Given the description of an element on the screen output the (x, y) to click on. 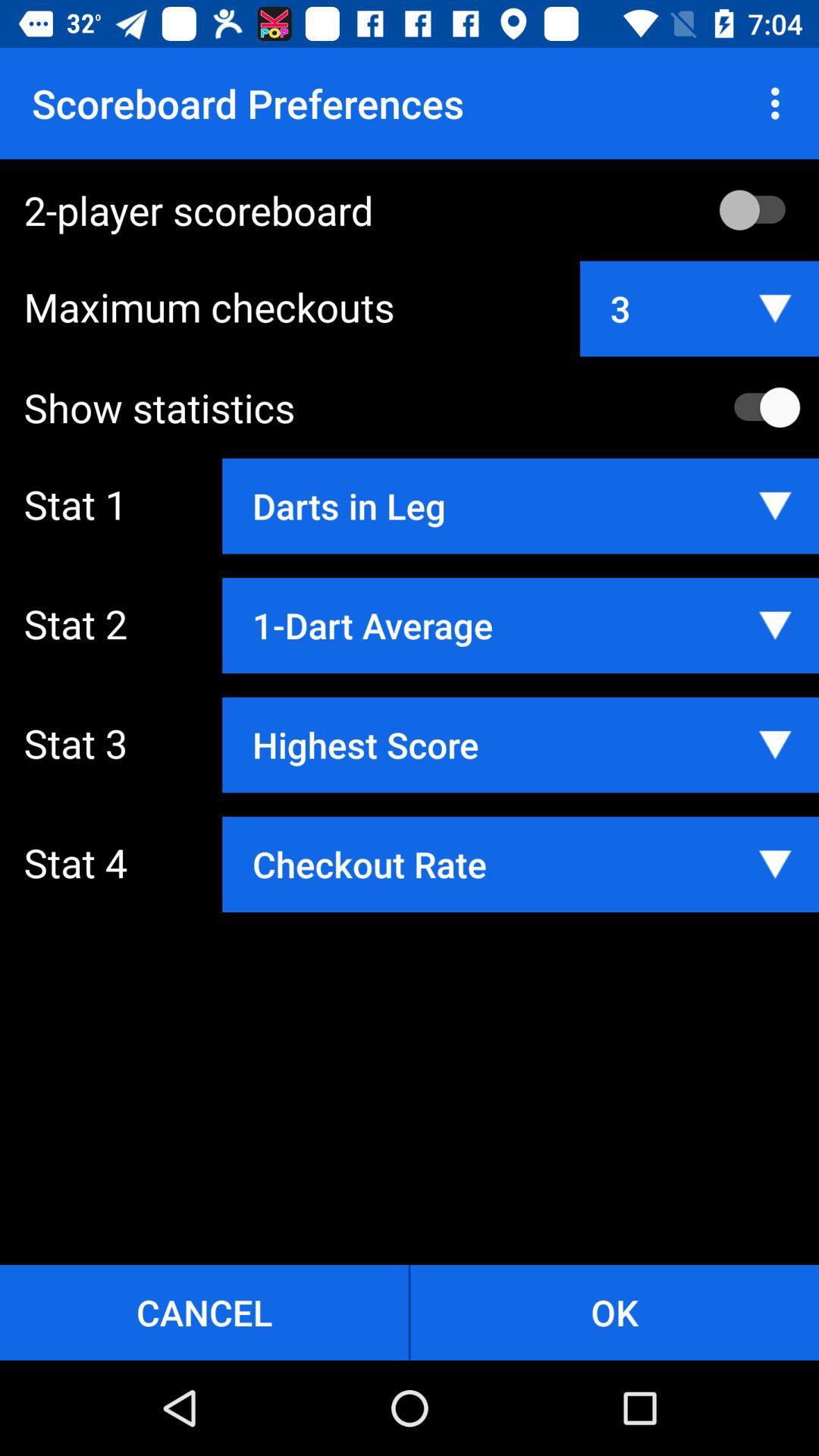
choose app next to stat 2 app (520, 625)
